Given the description of an element on the screen output the (x, y) to click on. 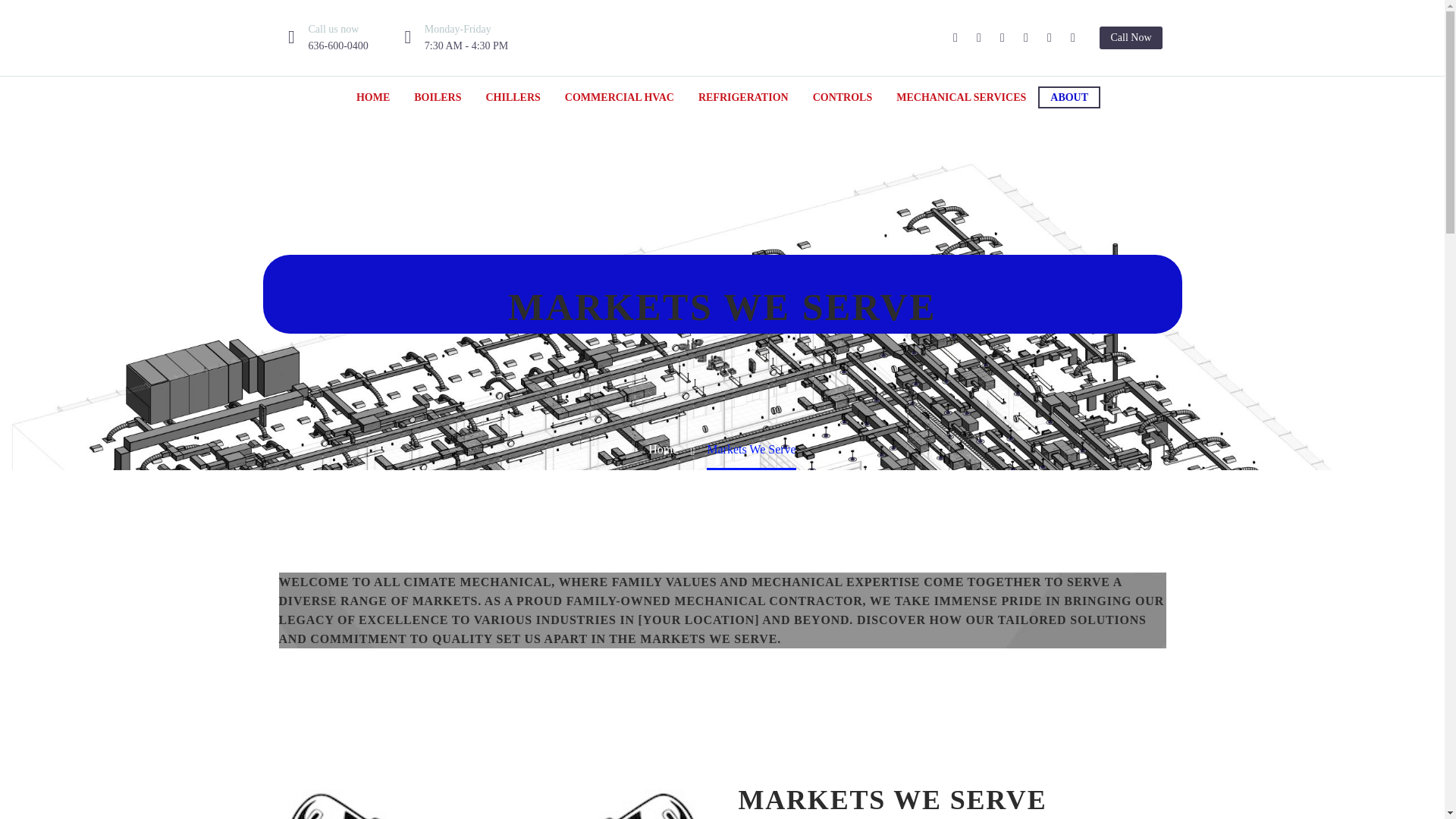
HOME (372, 97)
Instagram (1002, 37)
Call Now (1130, 37)
Facebook (954, 37)
MECHANICAL SERVICES (960, 97)
Twitter (978, 37)
REFRIGERATION (742, 97)
CHILLERS (512, 97)
COMMERCIAL HVAC (619, 97)
BOILERS (437, 97)
CONTROLS (842, 97)
